Given the description of an element on the screen output the (x, y) to click on. 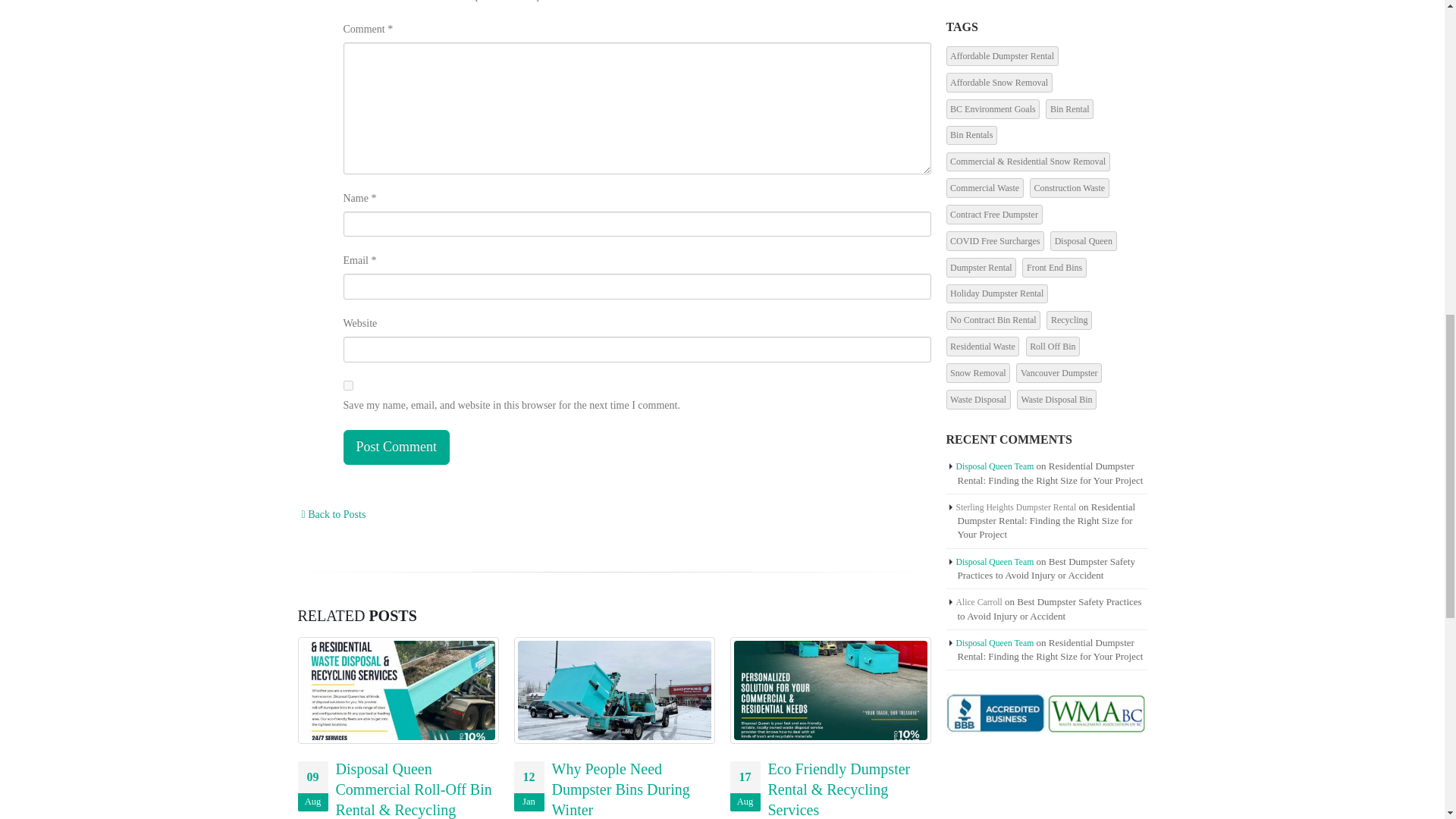
Post Comment (395, 447)
yes (347, 385)
